Given the description of an element on the screen output the (x, y) to click on. 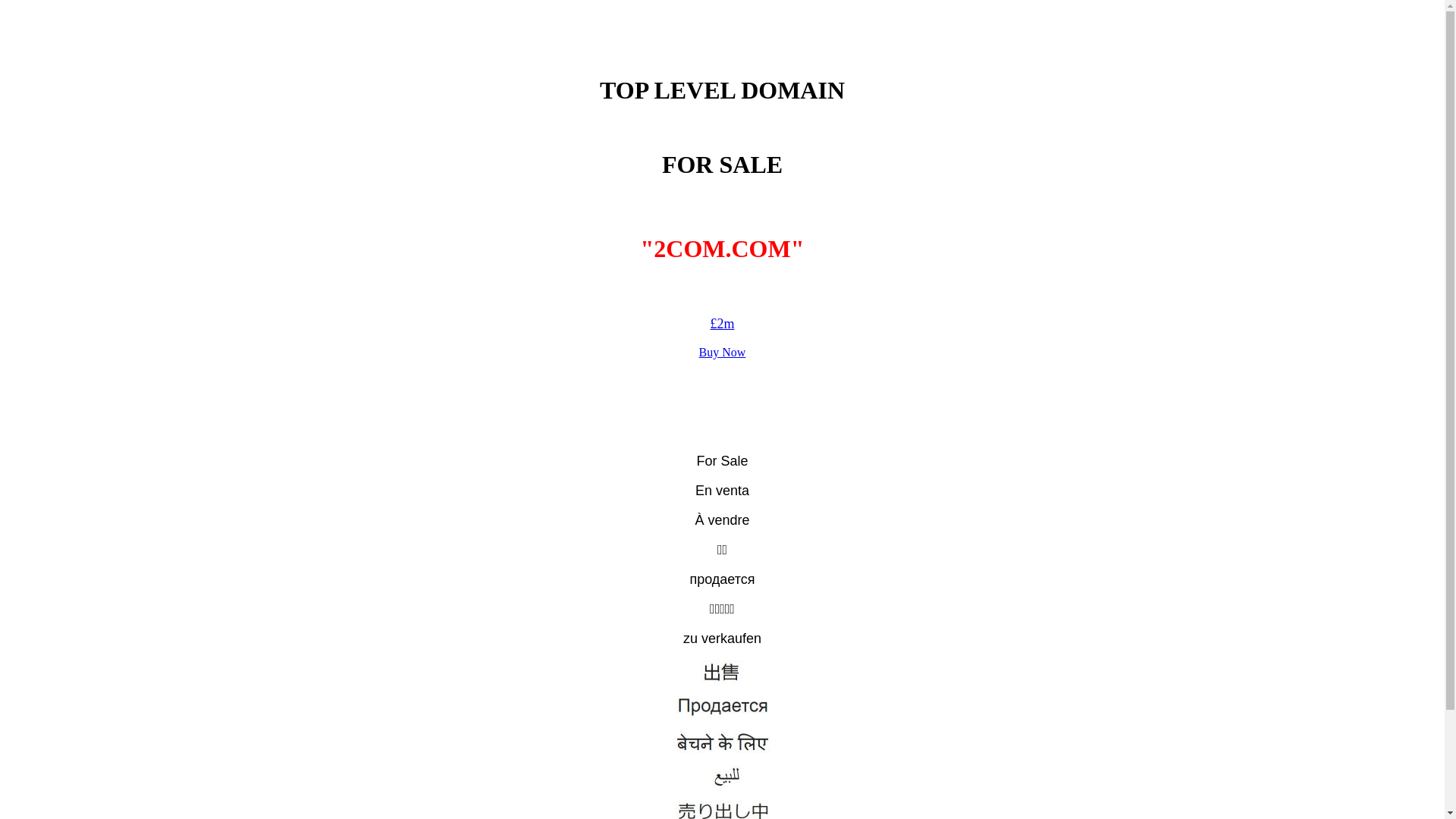
Buy Now Element type: text (722, 351)
